Given the description of an element on the screen output the (x, y) to click on. 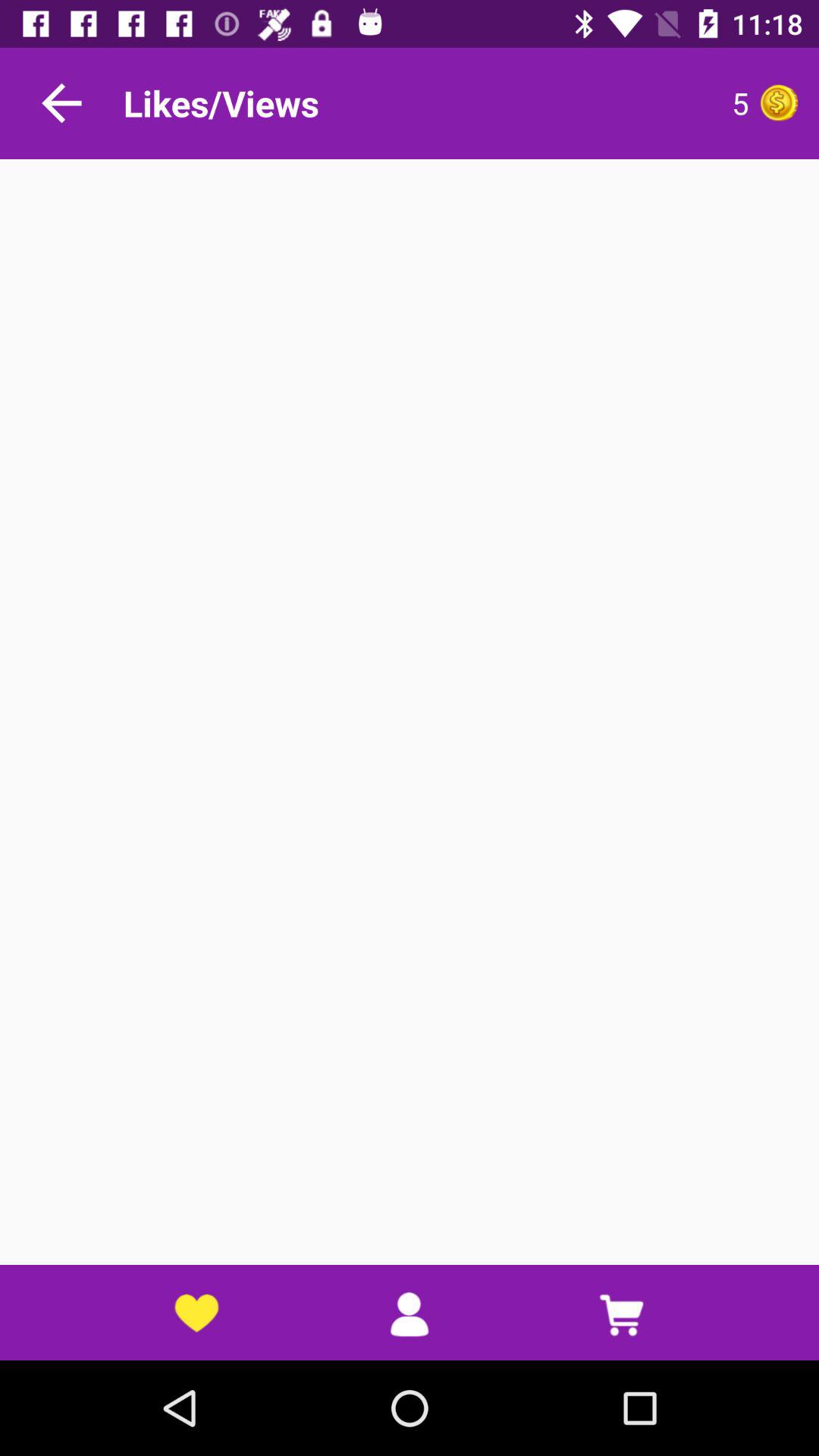
turn on 5 (603, 102)
